Given the description of an element on the screen output the (x, y) to click on. 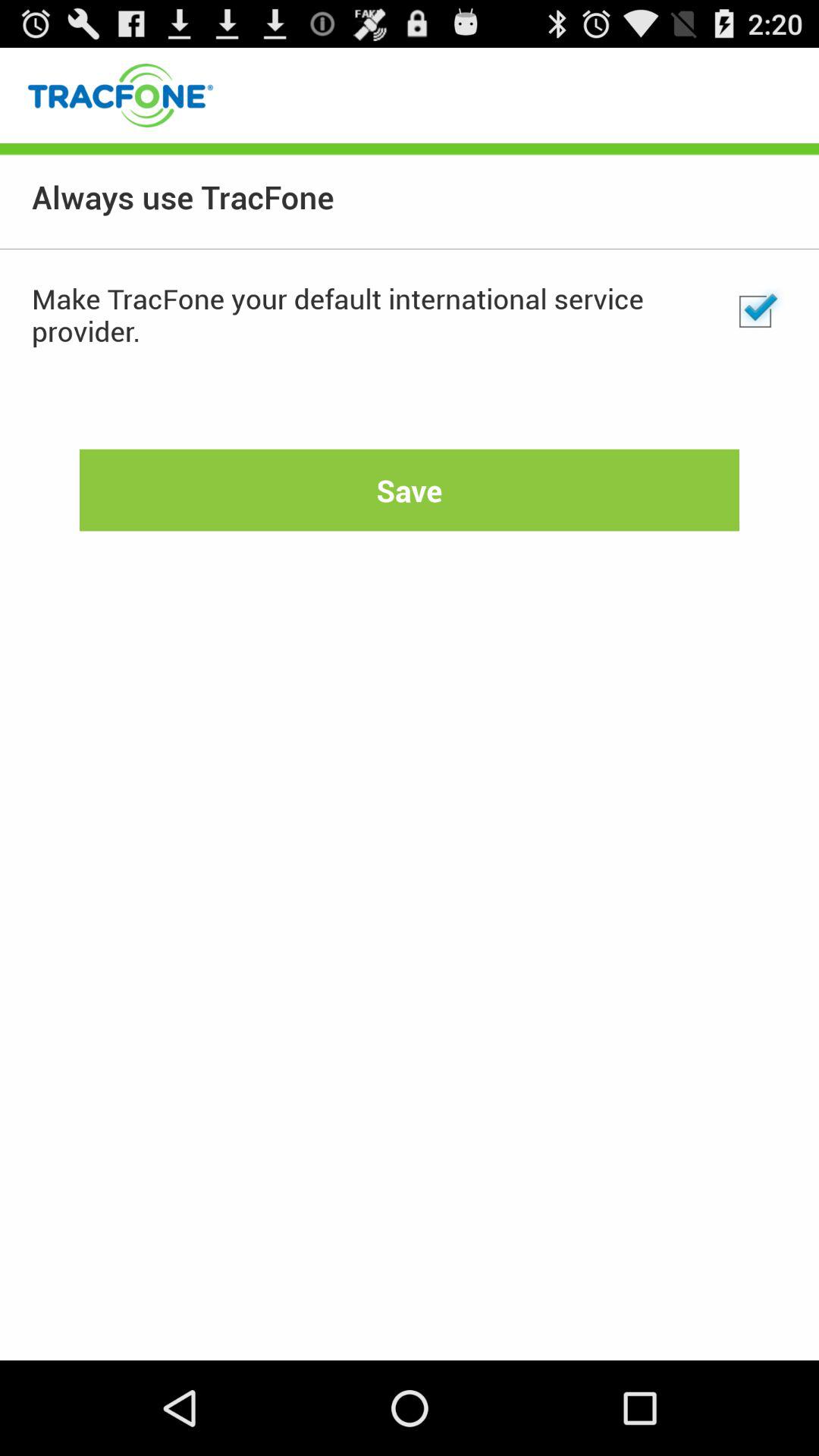
scroll to the save item (409, 490)
